Given the description of an element on the screen output the (x, y) to click on. 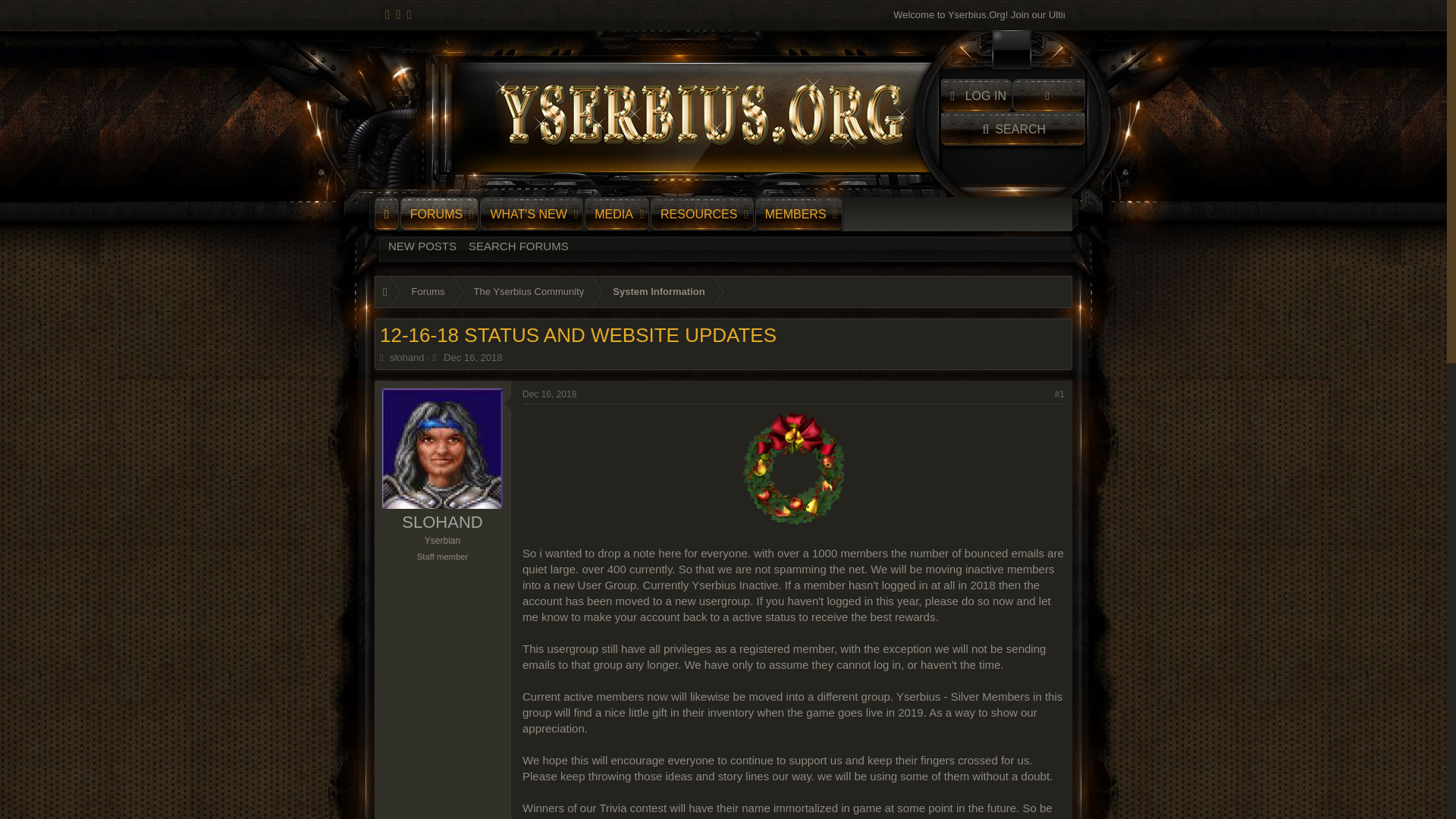
MEMBERS (791, 214)
LOG IN (975, 95)
REGISTER (1047, 95)
SEARCH (1012, 128)
Dec 16, 2018 at 6:23 PM (549, 394)
MEDIA (722, 262)
Dec 16, 2018 at 6:23 PM (609, 214)
WHAT'S NEW (473, 357)
Search (524, 214)
FORUMS (1012, 128)
RESOURCES (432, 214)
